Given the description of an element on the screen output the (x, y) to click on. 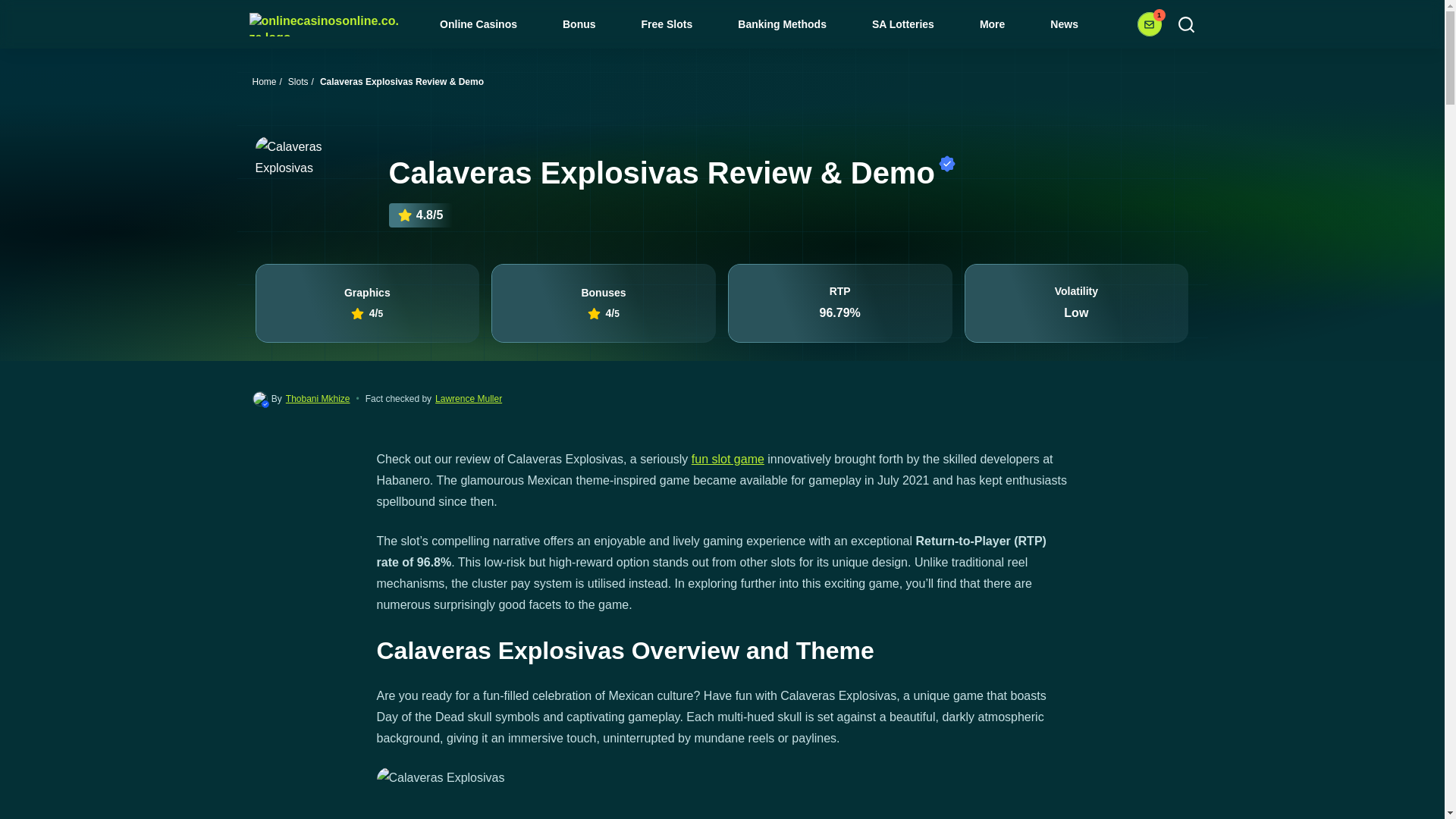
Online Casinos (489, 25)
Bonus (589, 25)
Bonus (589, 25)
Online Casinos (489, 25)
SA Lotteries (914, 25)
Banking Methods (792, 25)
Free Slots (677, 25)
